Given the description of an element on the screen output the (x, y) to click on. 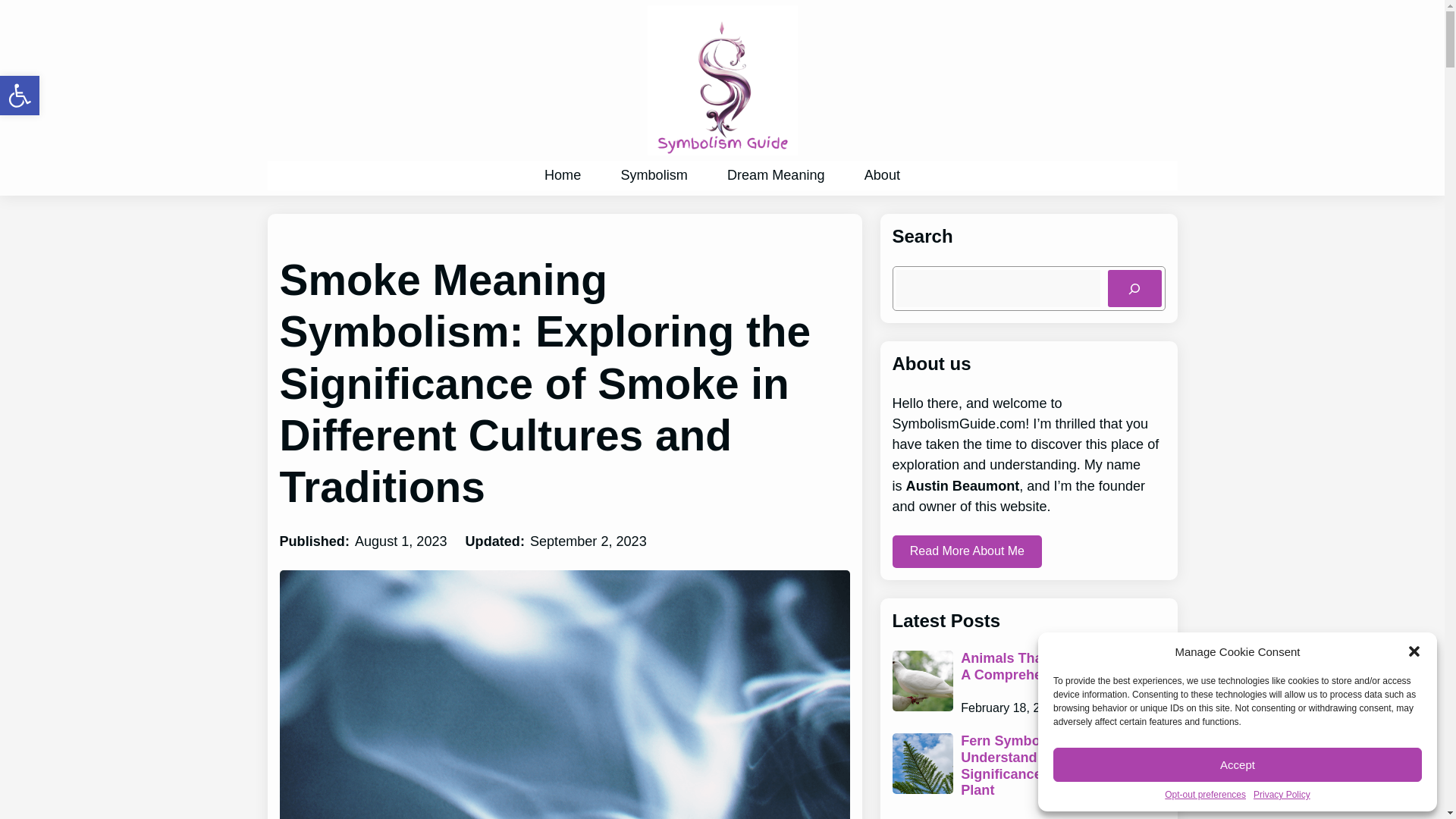
Dream Meaning (775, 175)
Symbolism (654, 175)
Home (19, 95)
Accept (562, 175)
Accessibility Tools (1237, 764)
Opt-out preferences (19, 95)
About (1205, 794)
Accessibility Tools (882, 175)
Privacy Policy (19, 95)
